Given the description of an element on the screen output the (x, y) to click on. 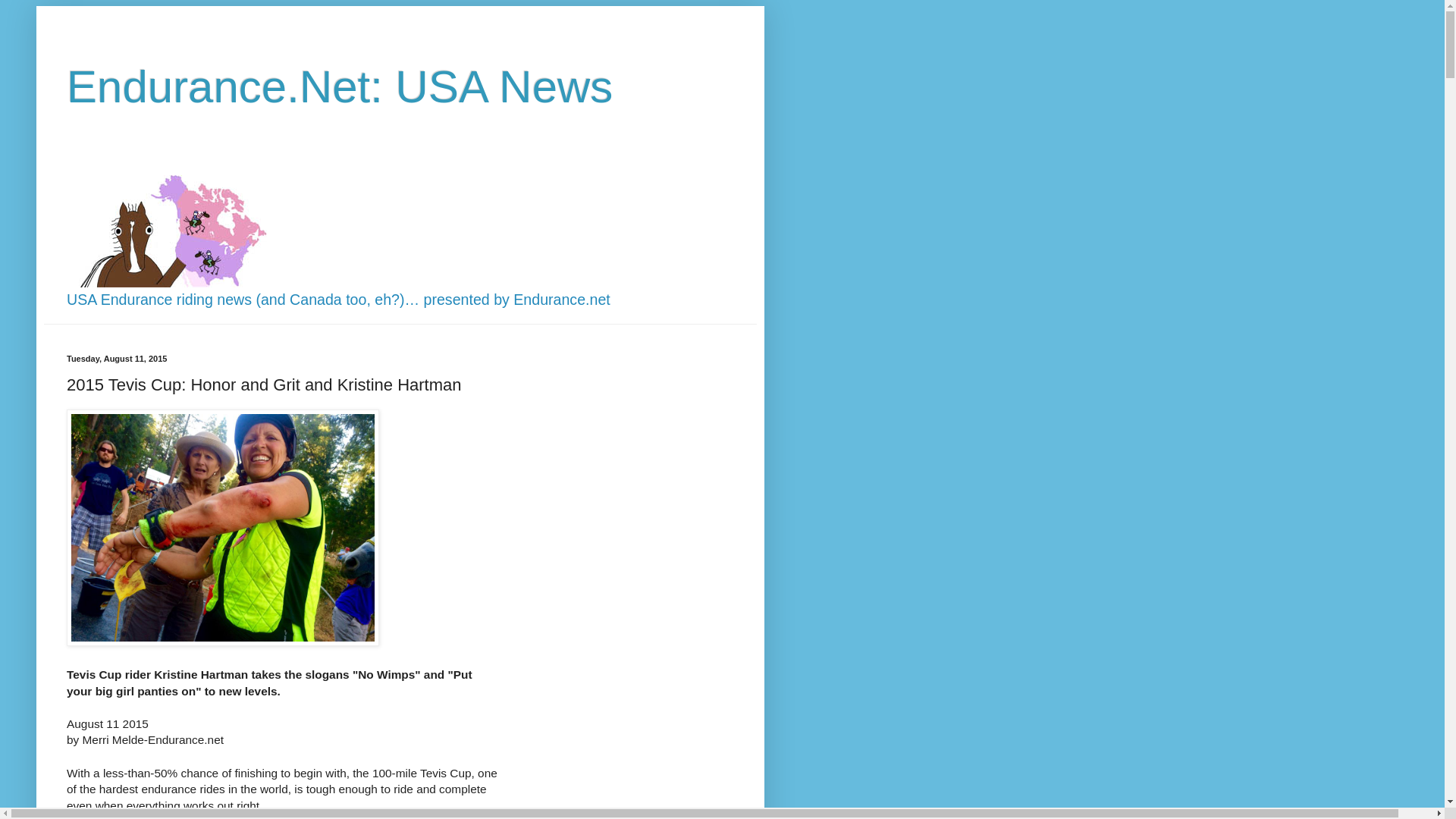
Endurance.Net: USA News (339, 86)
